Given the description of an element on the screen output the (x, y) to click on. 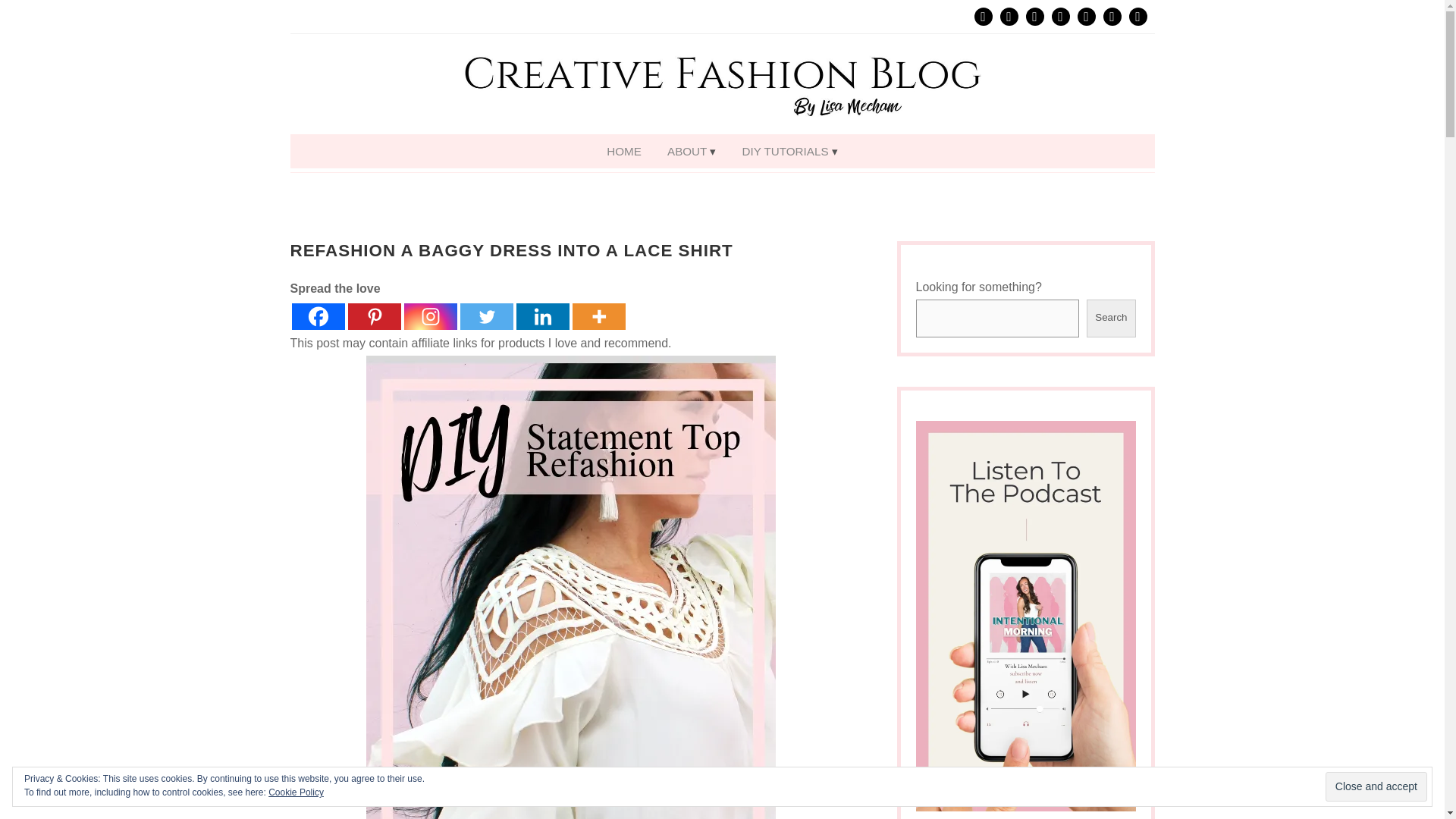
Creative Fashion Blog (722, 84)
More (598, 316)
Instagram (430, 316)
Facebook (317, 316)
REFASHION A BAGGY DRESS INTO A LACE SHIRT (510, 250)
DIY TUTORIALS (789, 150)
HOME (623, 150)
Twitter (486, 316)
Refashion A Baggy Dress into A Lace Shirt (510, 250)
Linkedin (542, 316)
